Given the description of an element on the screen output the (x, y) to click on. 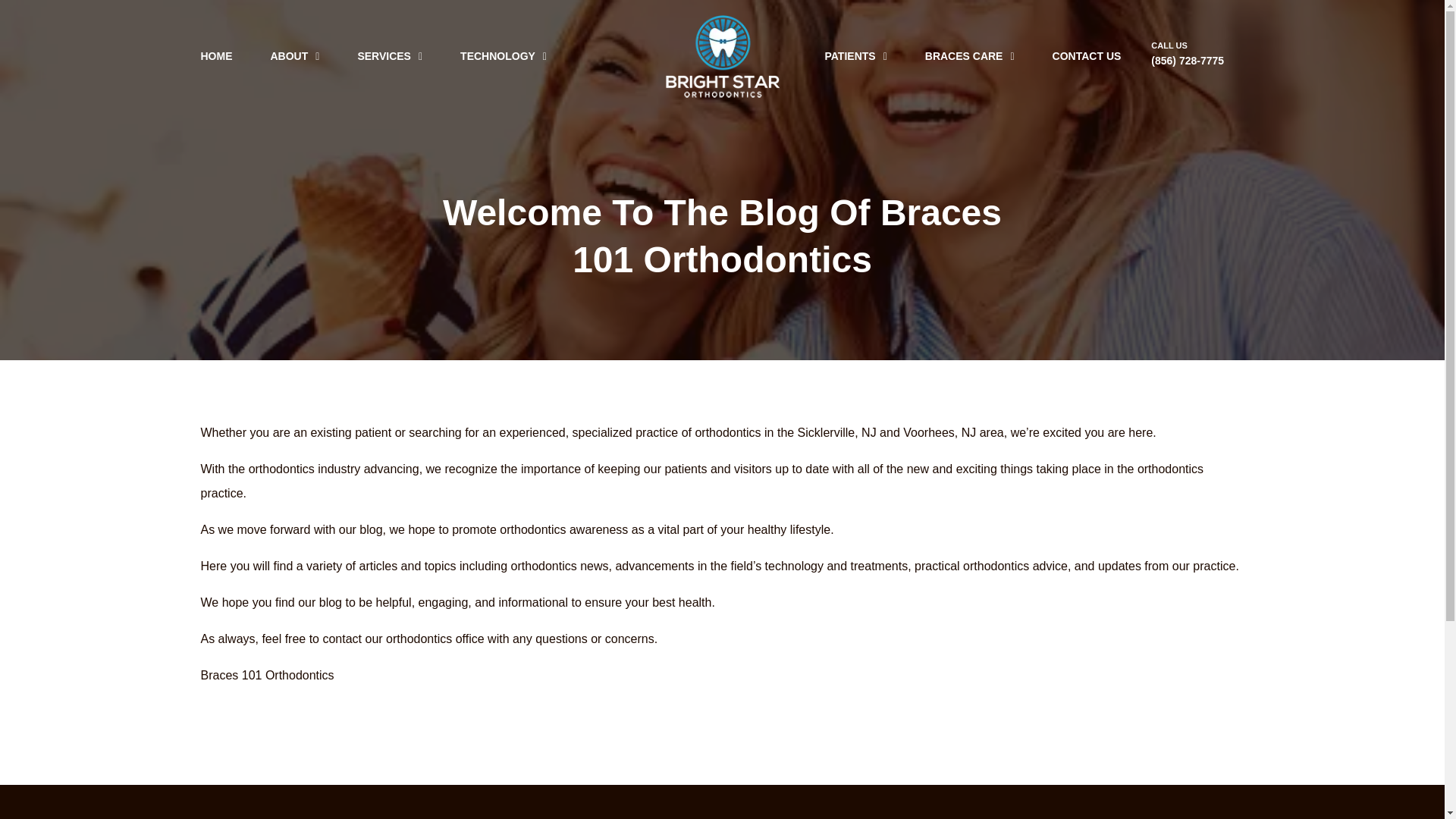
HOME (215, 55)
PATIENTS (855, 55)
ABOUT (293, 55)
CONTACT US (1086, 55)
SERVICES (389, 55)
TECHNOLOGY (503, 55)
BRACES CARE (969, 55)
